Given the description of an element on the screen output the (x, y) to click on. 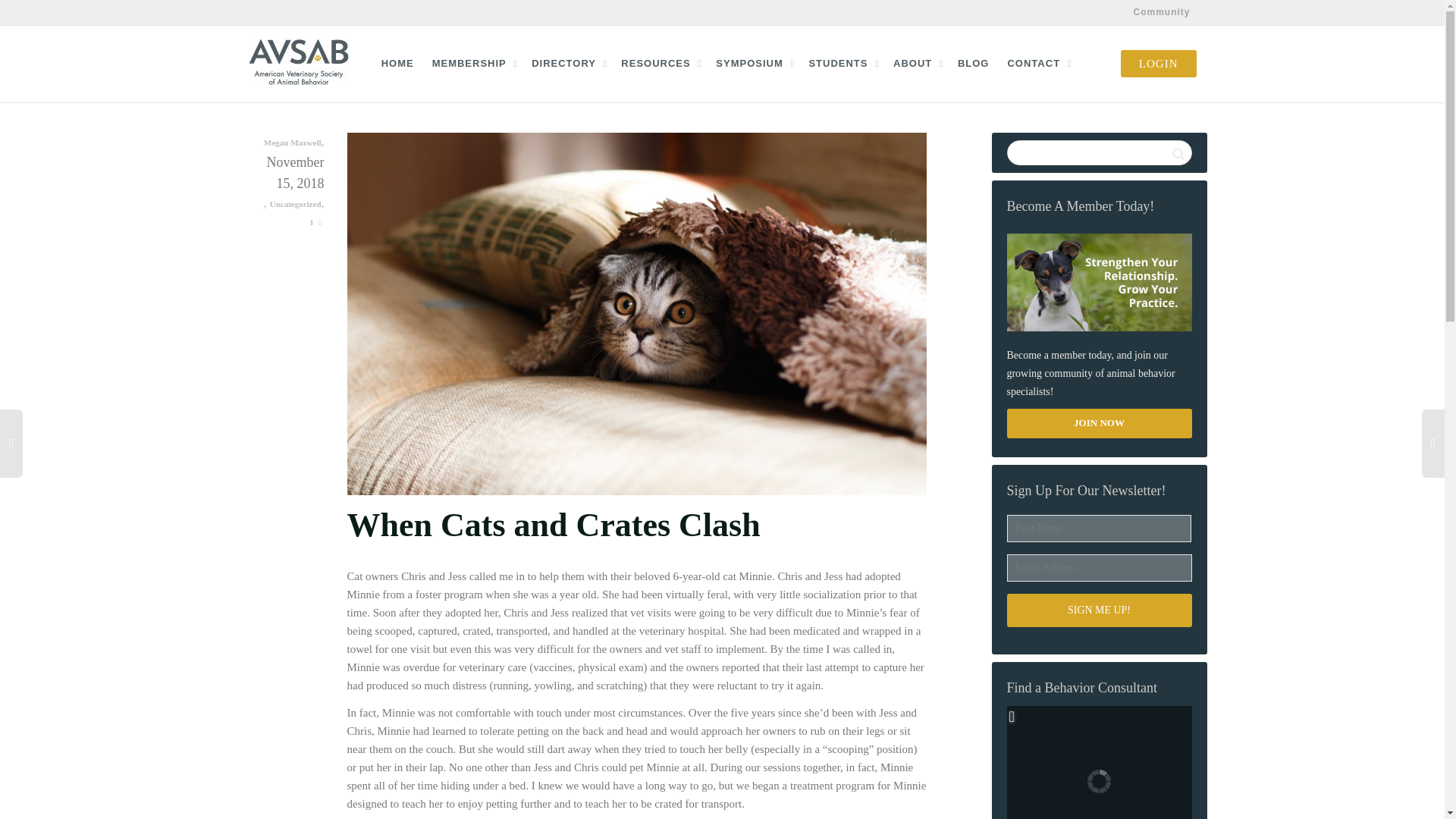
Search (1178, 153)
Search (1178, 153)
SYMPOSIUM (753, 63)
DIRECTORY (566, 63)
RESOURCES (659, 63)
Community (1160, 12)
AVSAB (298, 62)
Membership (472, 63)
MEMBERSHIP (472, 63)
Directory (566, 63)
